Given the description of an element on the screen output the (x, y) to click on. 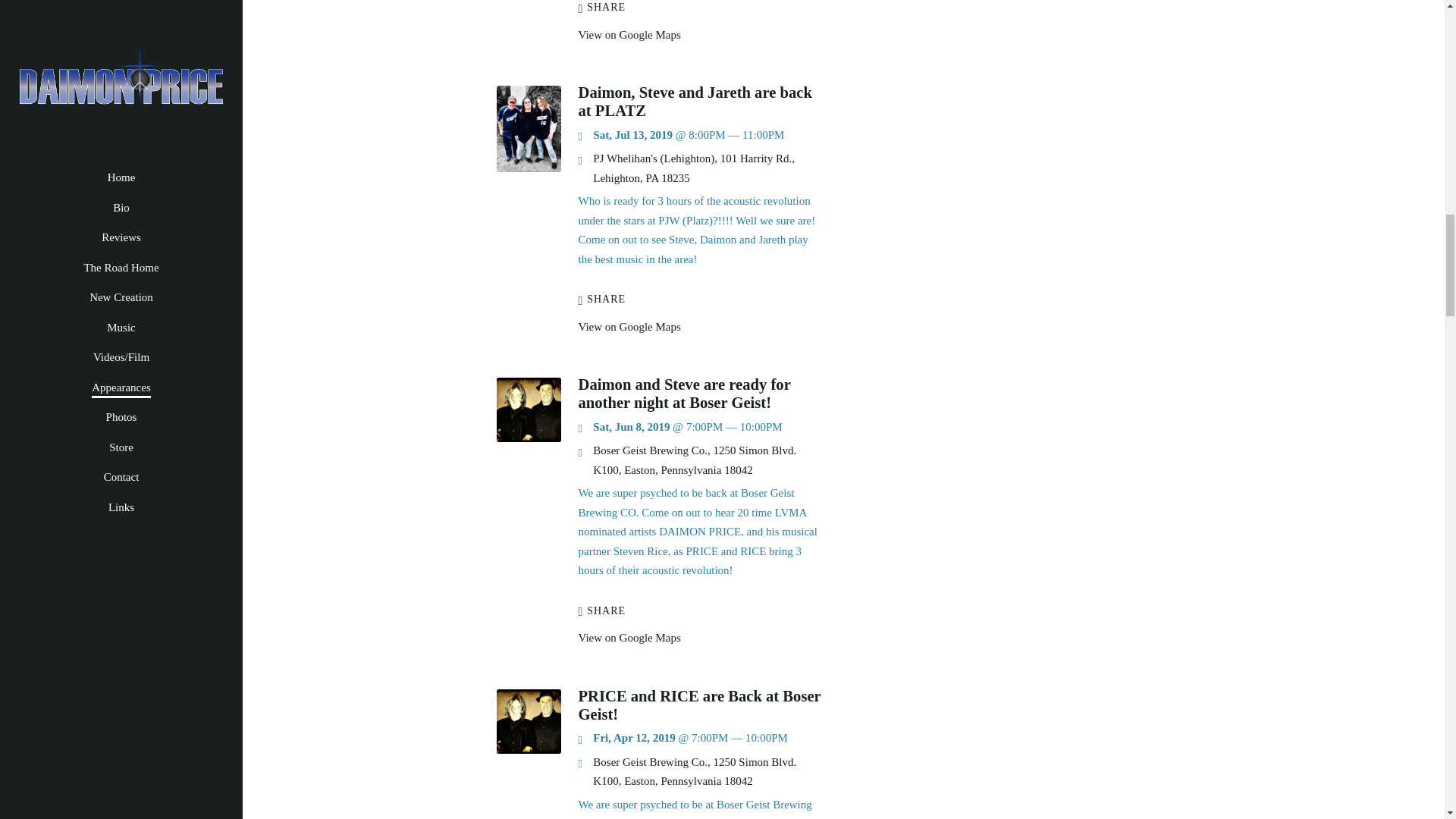
View on Google Maps (693, 168)
Daimon, Steve and Jareth are back at PLATZ (528, 168)
View on Google Maps (694, 459)
